Given the description of an element on the screen output the (x, y) to click on. 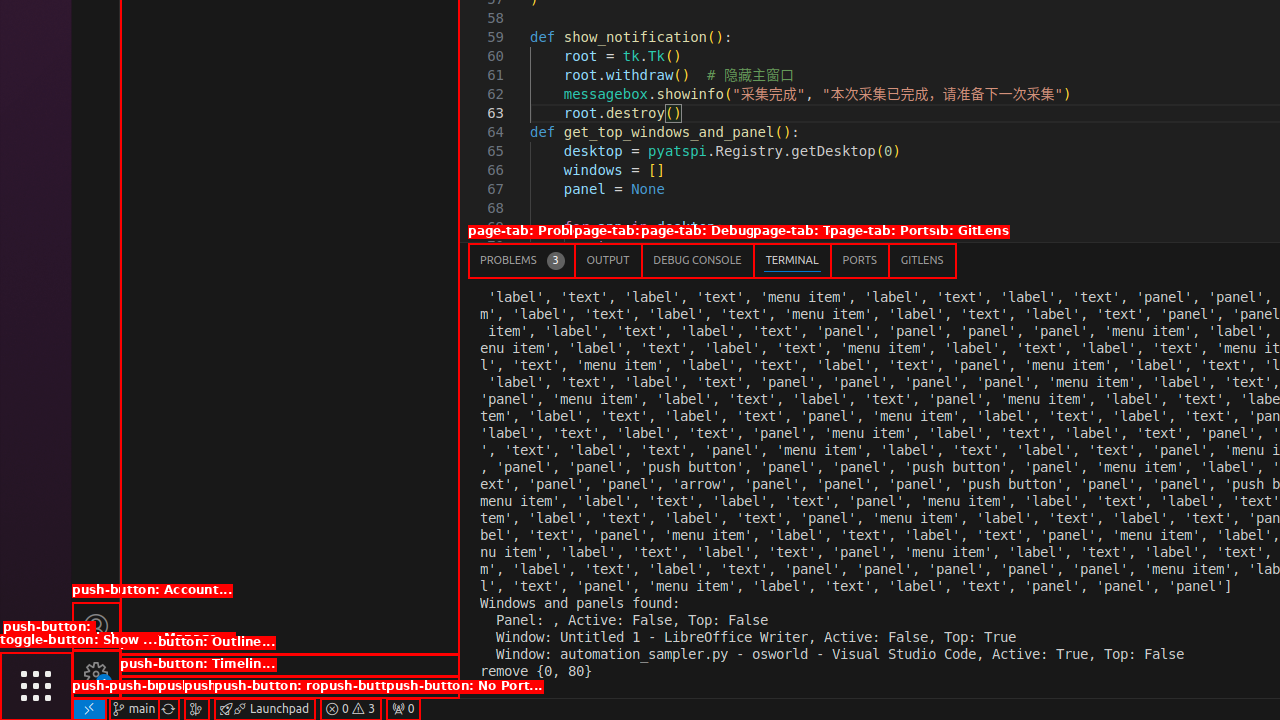
Problems (Ctrl+Shift+M) - Total 3 Problems Element type: page-tab (521, 260)
Warnings: 3 Element type: push-button (350, 709)
Active View Switcher Element type: page-tab-list (712, 260)
remote Element type: push-button (89, 709)
